Given the description of an element on the screen output the (x, y) to click on. 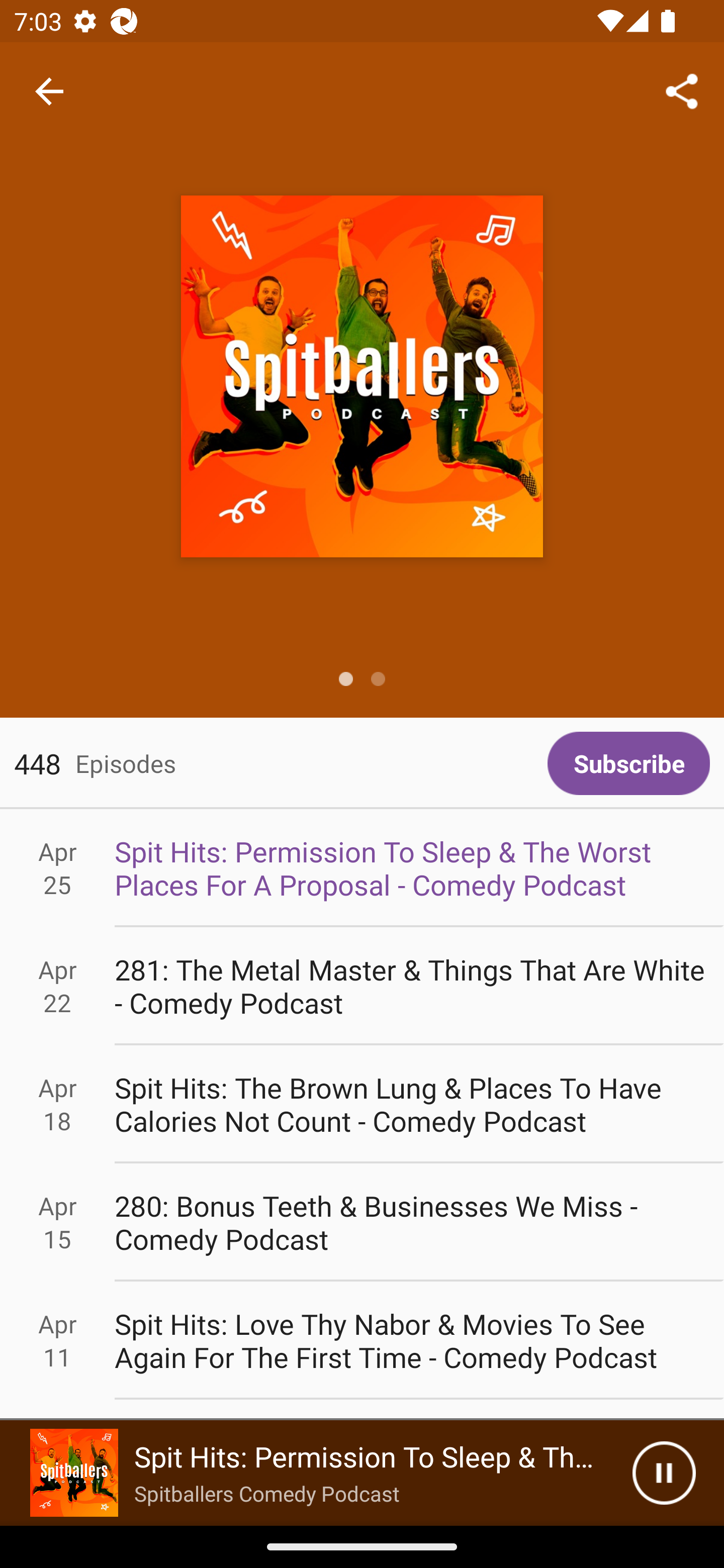
Navigate up (49, 91)
Share... (681, 90)
Subscribe (628, 763)
Pause (663, 1472)
